Given the description of an element on the screen output the (x, y) to click on. 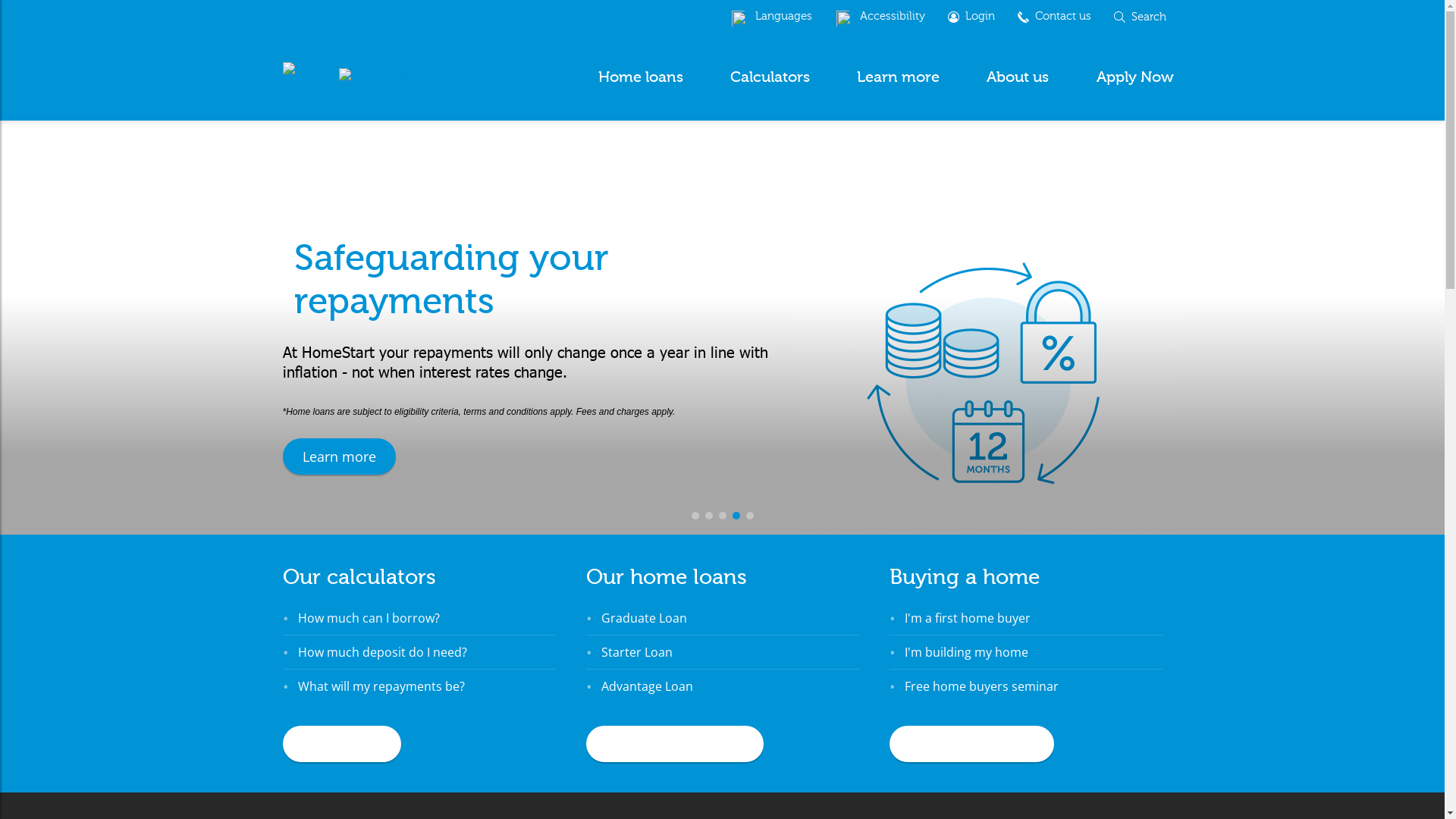
Calculators Element type: text (769, 76)
How much deposit do I need? Element type: text (381, 651)
3 Element type: text (722, 515)
5 Element type: text (749, 515)
Learn more Element type: text (338, 456)
Home loans Element type: text (640, 76)
I'm a first home buyer Element type: text (966, 617)
What will my repayments be? Element type: text (380, 685)
4 Element type: text (736, 515)
1 Element type: text (695, 515)
Graduate Loan Element type: text (643, 617)
2 Element type: text (708, 515)
Login Element type: text (970, 16)
Advantage Loan Element type: text (646, 685)
Starter Loan Element type: text (635, 651)
Free home buyers seminar Element type: text (980, 685)
About us Element type: text (1017, 76)
Languages Element type: text (770, 16)
Home buyers guide Element type: text (970, 743)
How much can I borrow? Element type: text (368, 617)
Learn more Element type: text (898, 76)
Contact us Element type: text (1053, 16)
Rates & fees Element type: text (341, 743)
Accessibility Element type: text (879, 16)
Apply Now Element type: text (1134, 76)
I'm building my home Element type: text (965, 651)
Compare home loans Element type: text (673, 743)
